Given the description of an element on the screen output the (x, y) to click on. 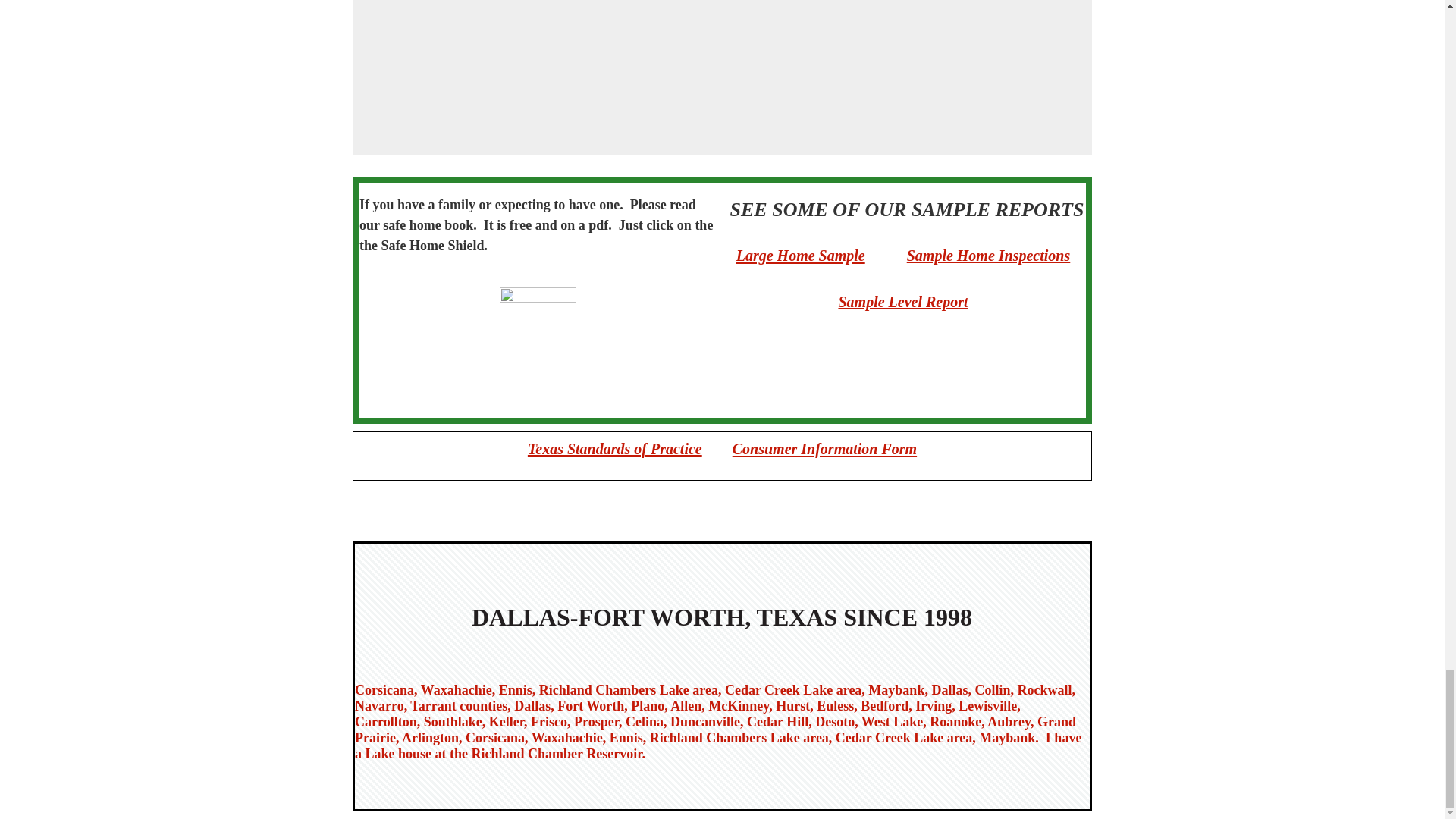
Safe Home Book (537, 339)
Texas Standards of Practice (614, 448)
Consumer Information Form (824, 447)
Large Home Sample (800, 254)
Sample Level Report (903, 301)
Sample Home Inspections (988, 255)
